Given the description of an element on the screen output the (x, y) to click on. 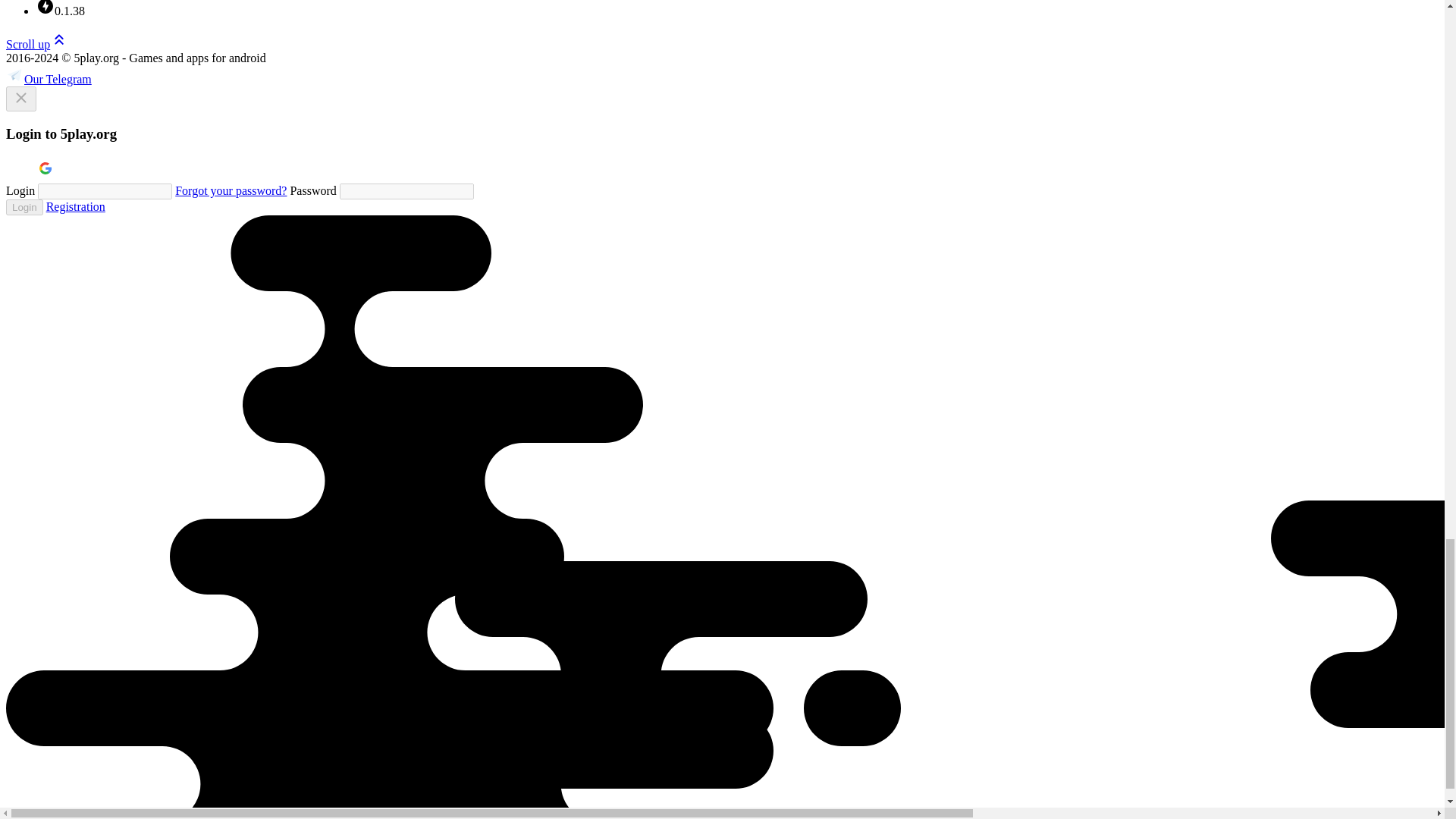
Scroll up (36, 43)
